Given the description of an element on the screen output the (x, y) to click on. 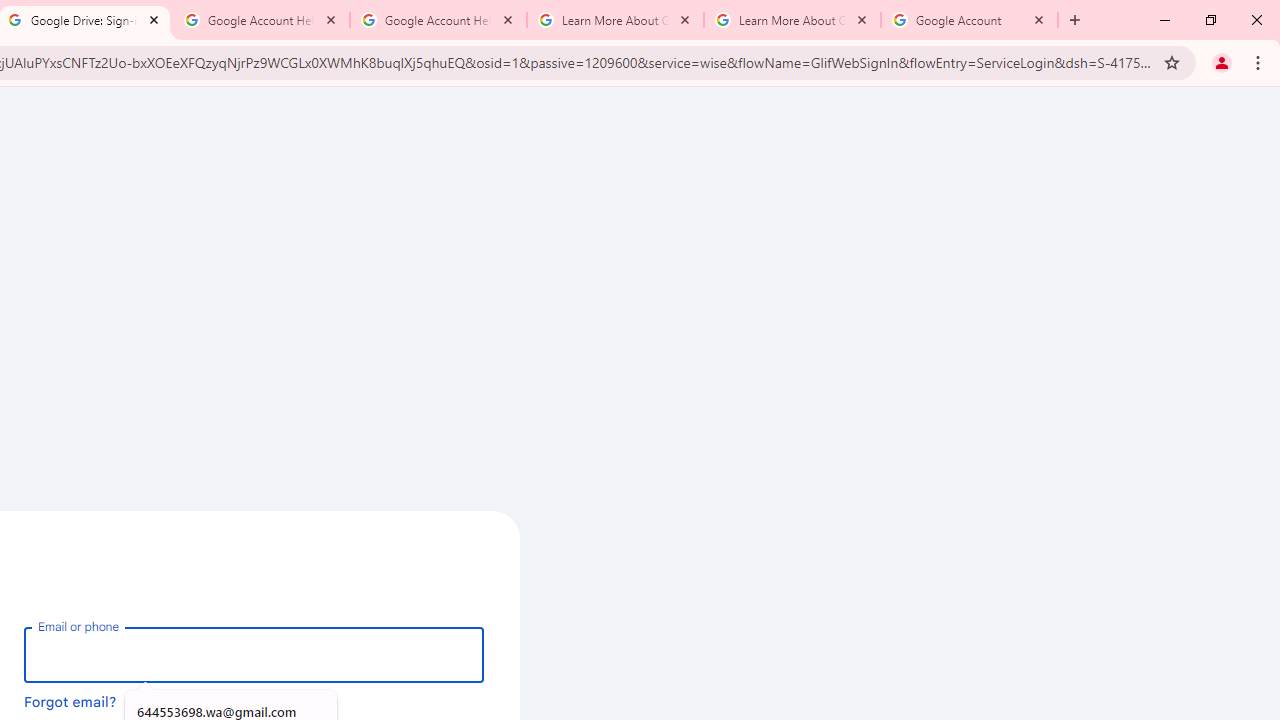
Google Account Help (438, 20)
Email or phone (253, 654)
Forgot email? (70, 701)
Google Account Help (260, 20)
Google Account (969, 20)
